Given the description of an element on the screen output the (x, y) to click on. 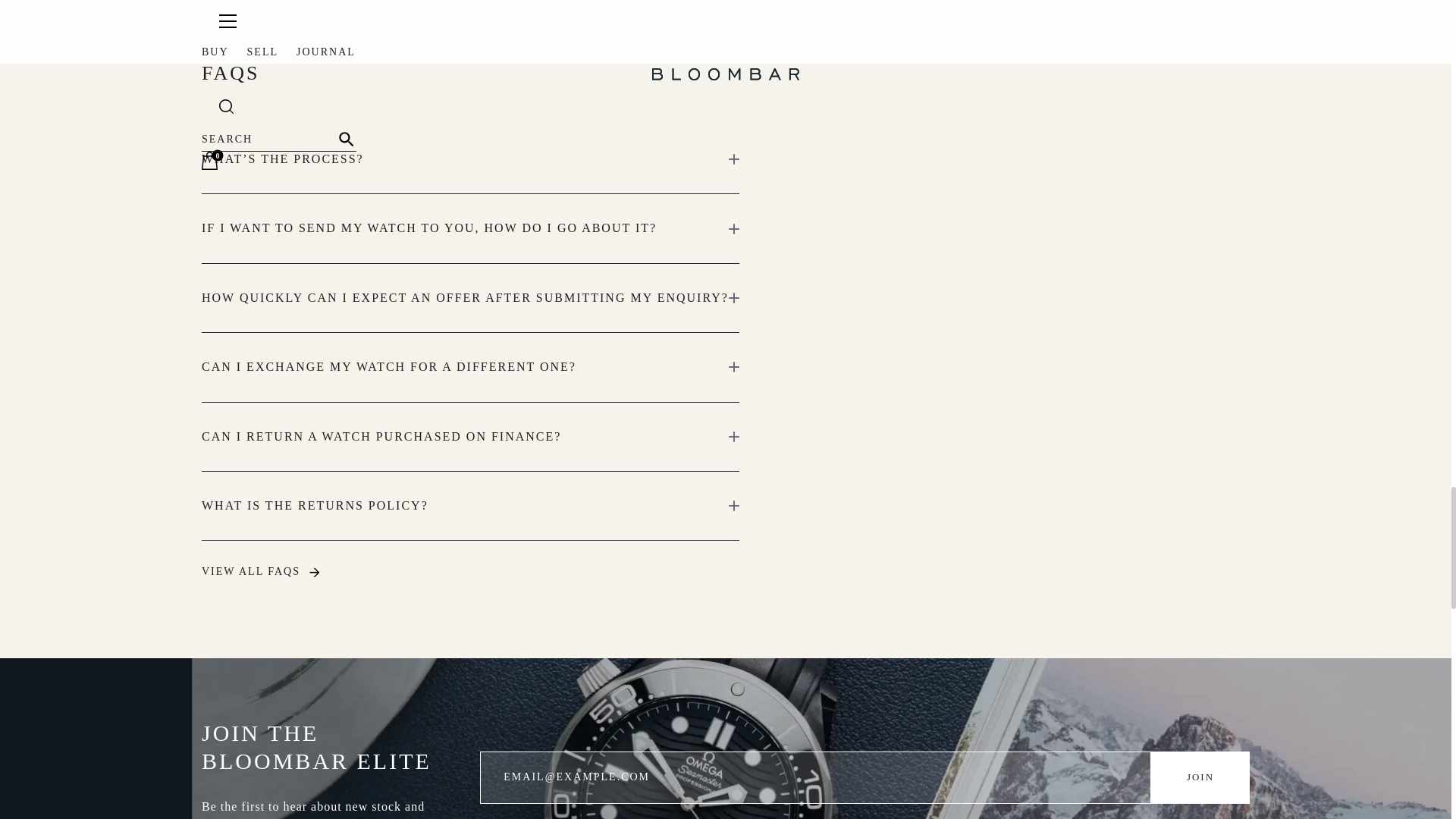
VIEW ALL FAQS (261, 571)
Join (1200, 777)
Join (1200, 777)
